Given the description of an element on the screen output the (x, y) to click on. 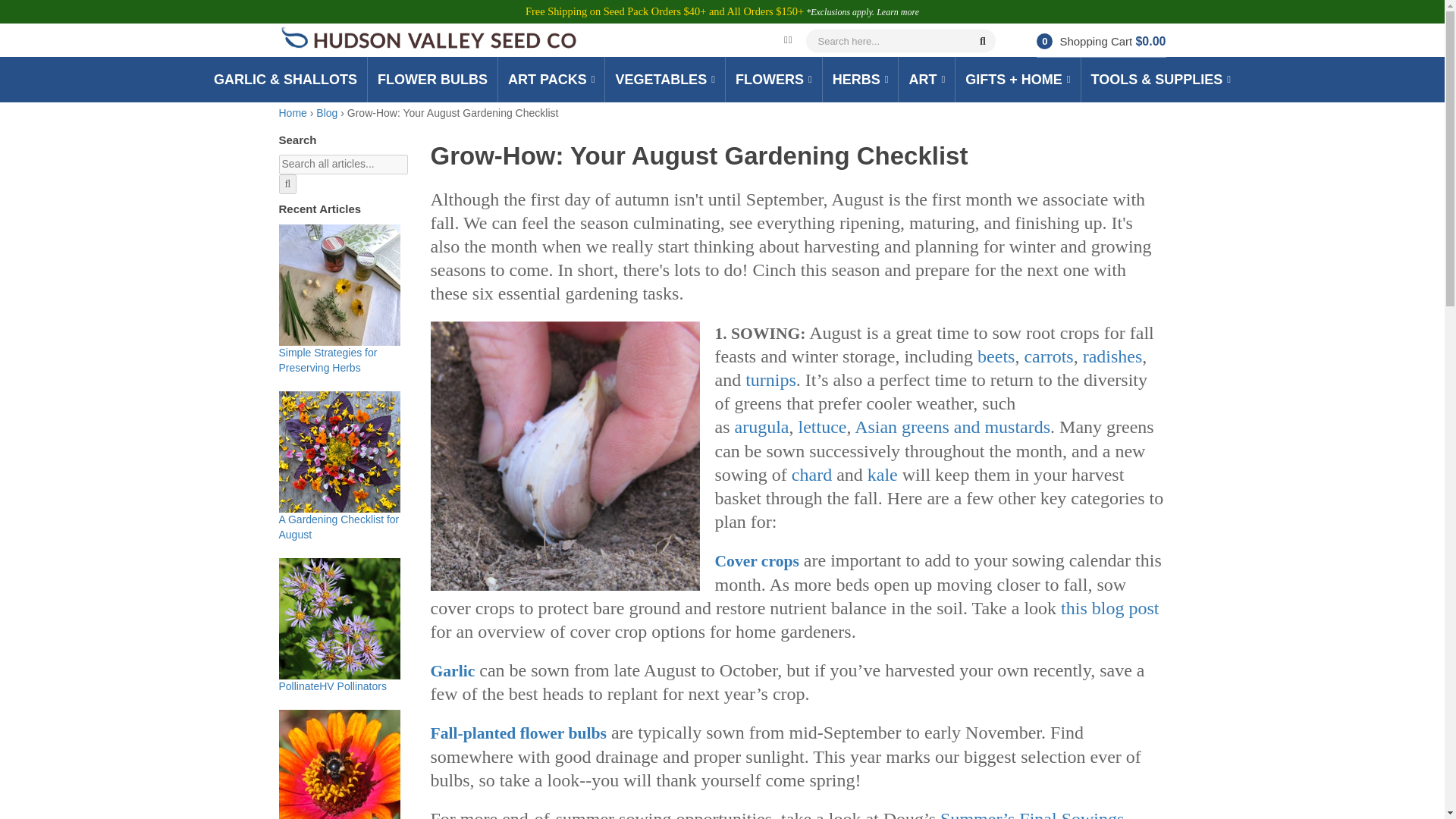
VEGETABLES (664, 79)
Learn more (897, 11)
ART PACKS (551, 79)
FLOWER BULBS (432, 79)
Back to the frontpage (293, 112)
